Given the description of an element on the screen output the (x, y) to click on. 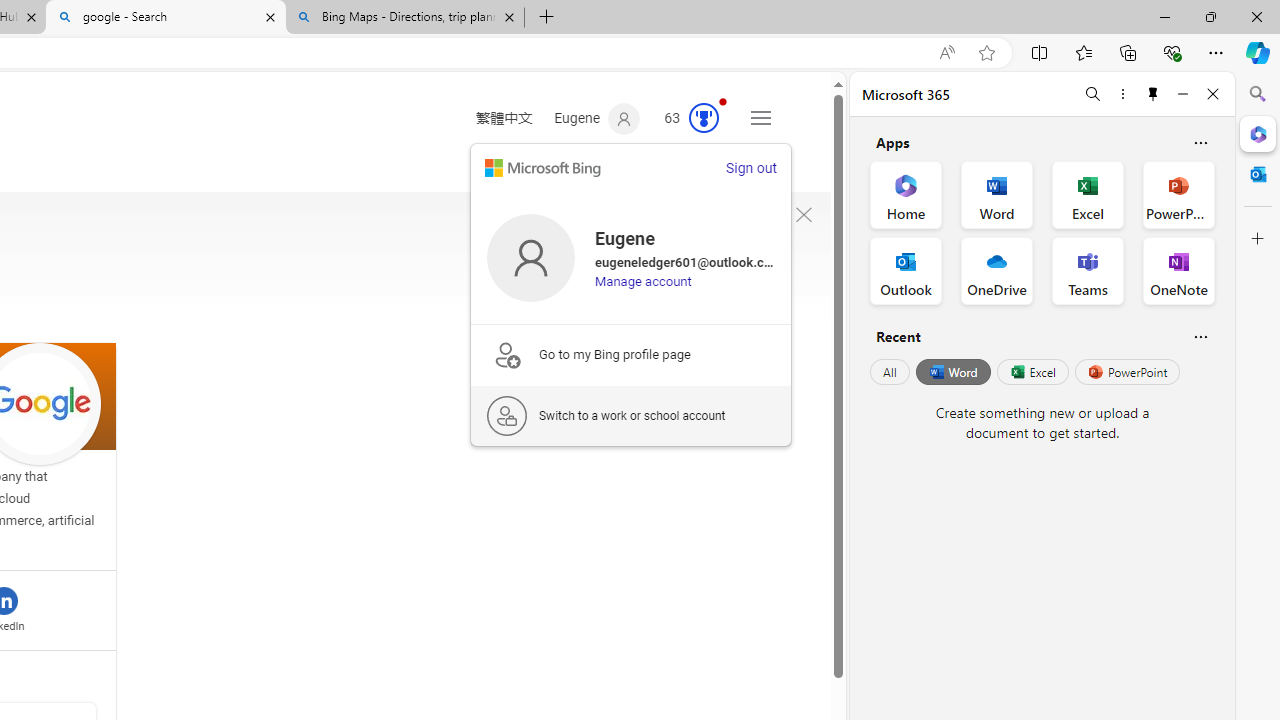
Manage account (643, 281)
PowerPoint (1127, 372)
AutomationID: serp_medal_svg (703, 117)
Eugene (597, 119)
Teams Office App (1087, 270)
Profile Picture (530, 257)
Switch to a work or school account (631, 415)
